Given the description of an element on the screen output the (x, y) to click on. 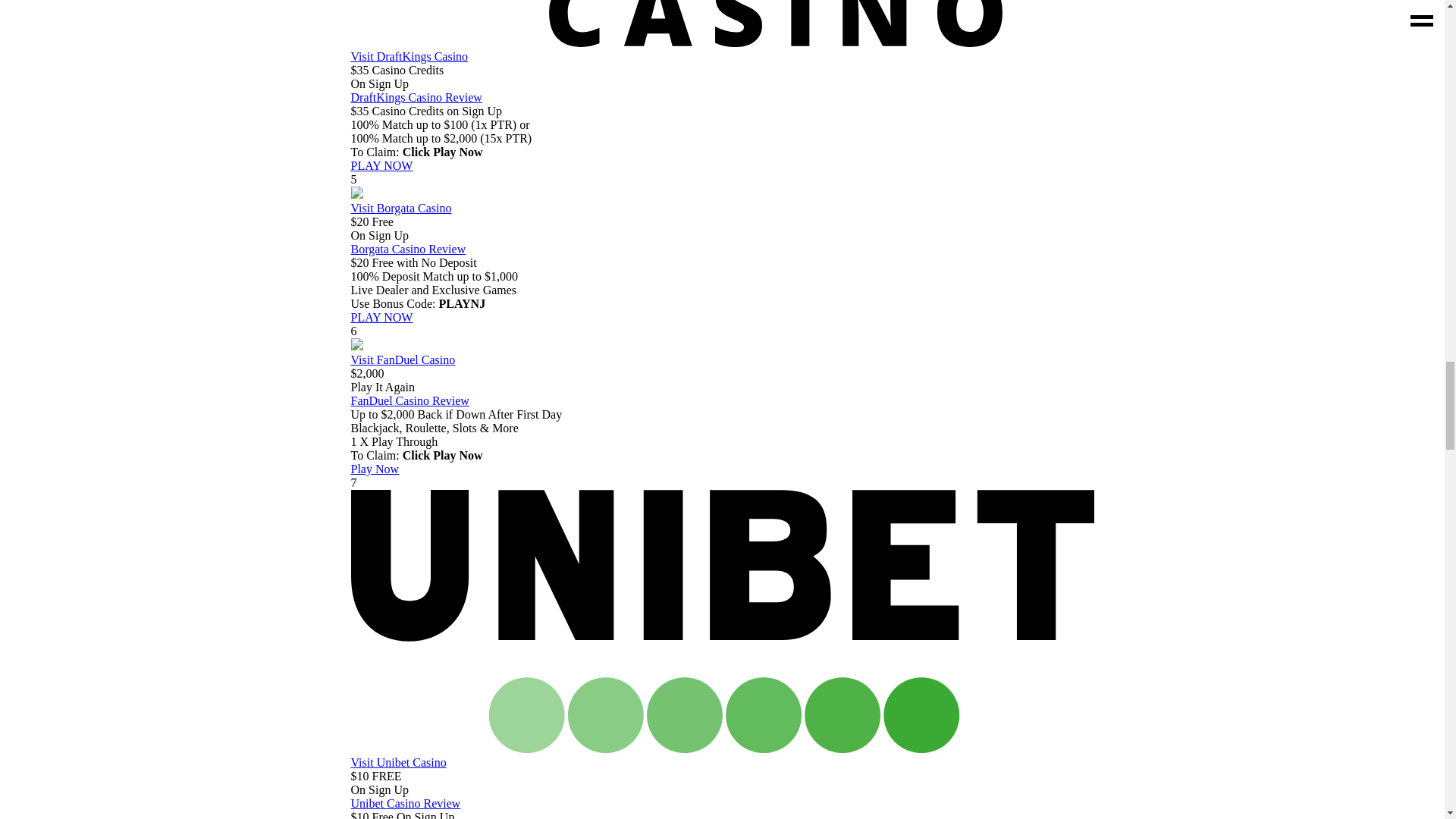
DraftKings Casino (721, 42)
DraftKings Casino (721, 62)
Borgata Casino NJ (356, 194)
Borgata Casino NJ (721, 215)
DraftKings Casino (381, 164)
